Given the description of an element on the screen output the (x, y) to click on. 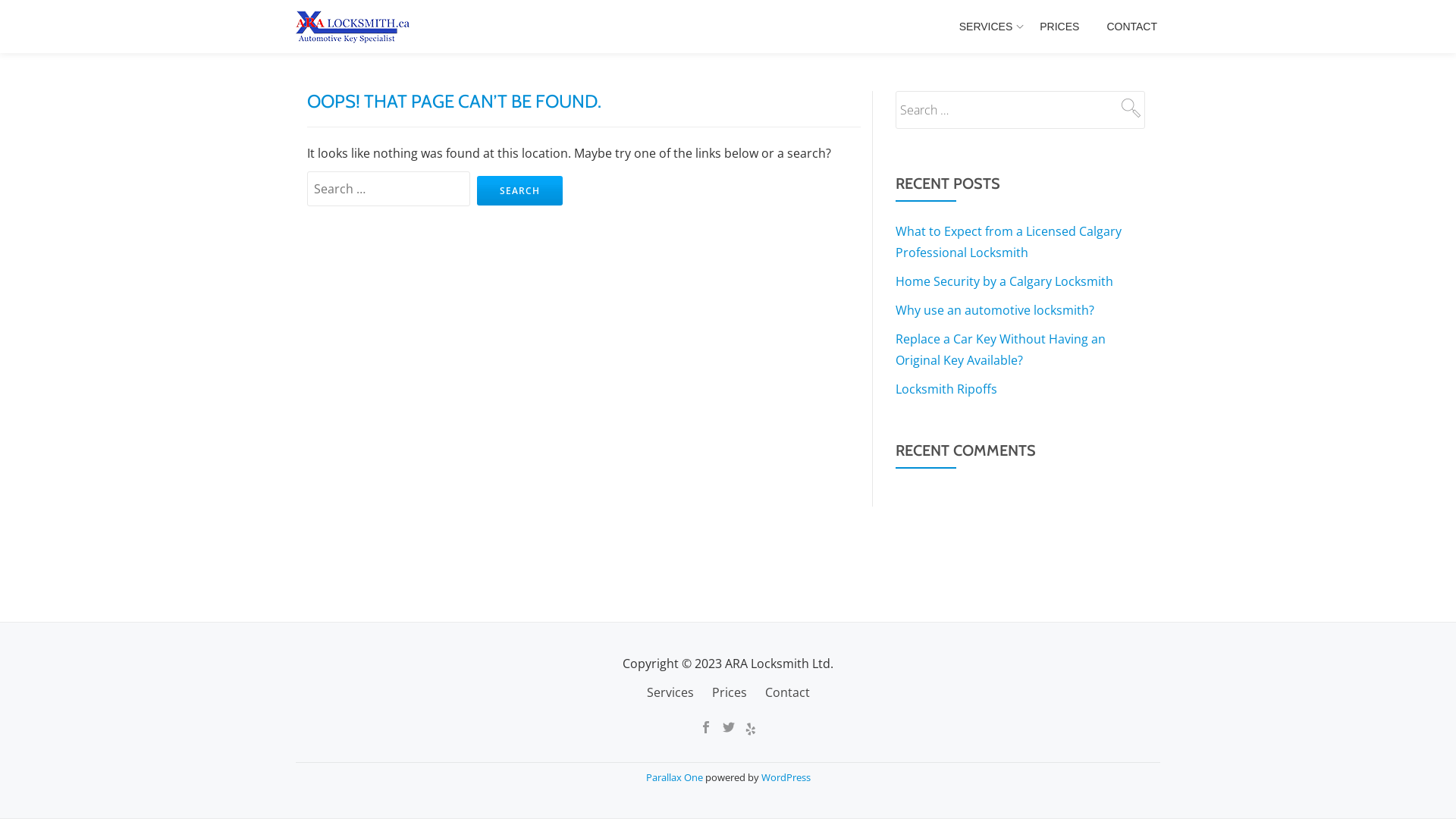
PRICES Element type: text (1059, 26)
Professional Locksmith in Calgary, Alberta Element type: hover (354, 26)
Services Element type: text (669, 692)
Parallax One Element type: text (675, 777)
Contact Element type: text (786, 692)
Search Element type: text (1129, 107)
SERVICES Element type: text (986, 26)
Replace a Car Key Without Having an Original Key Available? Element type: text (1000, 349)
Prices Element type: text (728, 692)
Home Security by a Calgary Locksmith Element type: text (1004, 281)
Why use an automotive locksmith? Element type: text (994, 309)
CONTACT Element type: text (1131, 26)
Locksmith Ripoffs Element type: text (946, 388)
WordPress Element type: text (785, 777)
Search Element type: text (519, 190)
